Given the description of an element on the screen output the (x, y) to click on. 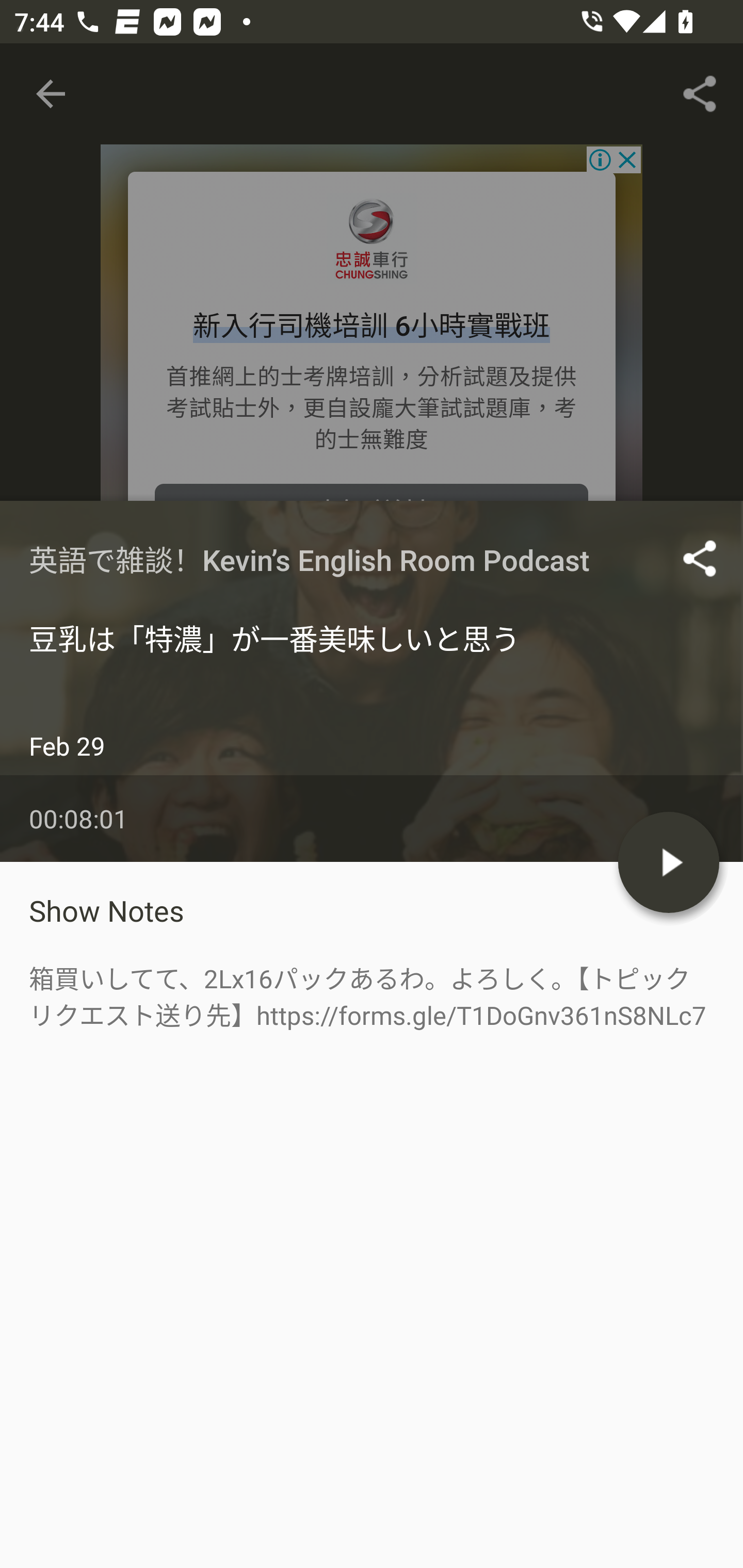
Navigate up (50, 93)
Share... (699, 93)
